Given the description of an element on the screen output the (x, y) to click on. 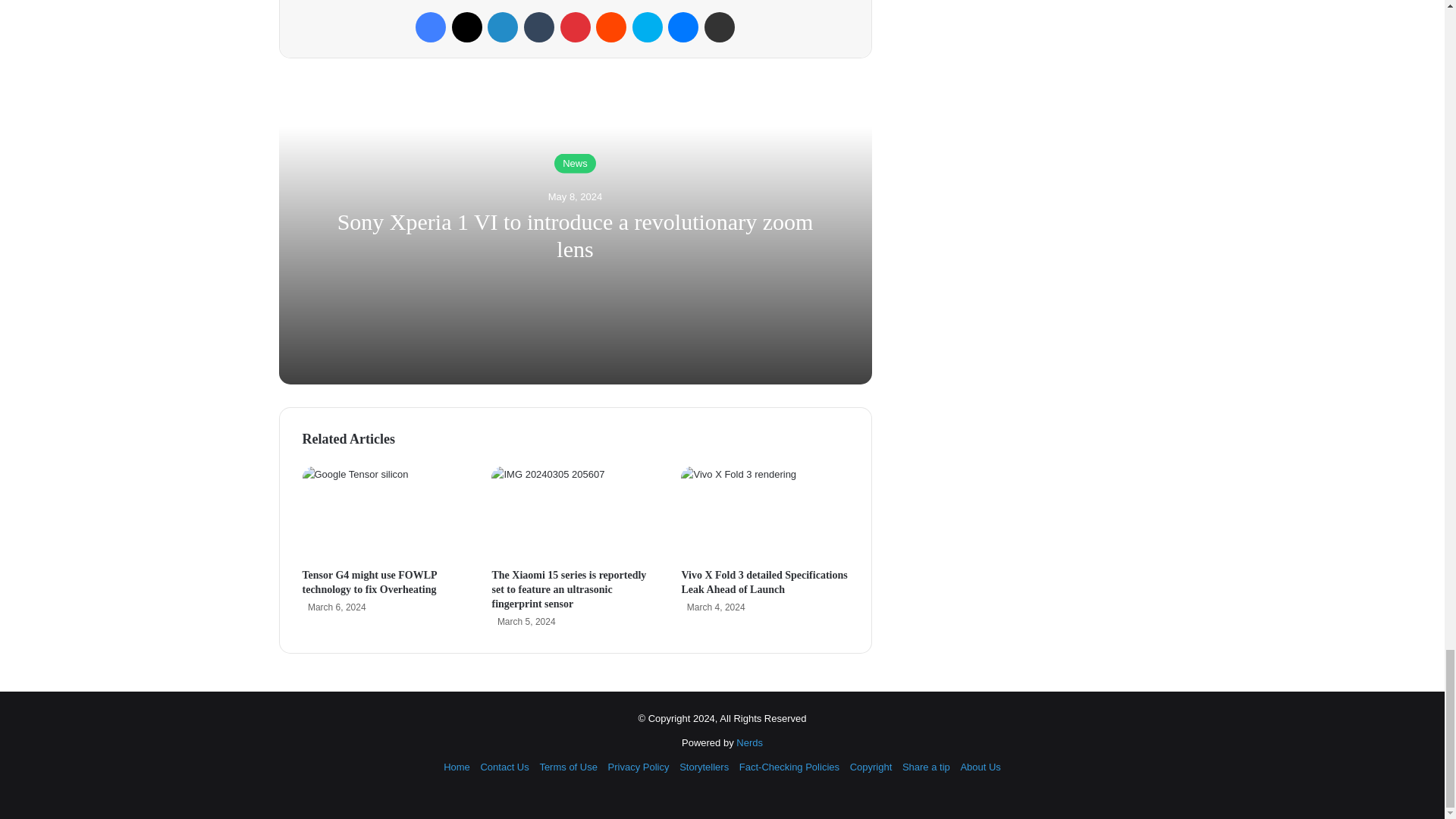
LinkedIn (502, 27)
Tumblr (539, 27)
X (466, 27)
Reddit (610, 27)
Pinterest (574, 27)
Facebook (429, 27)
